Given the description of an element on the screen output the (x, y) to click on. 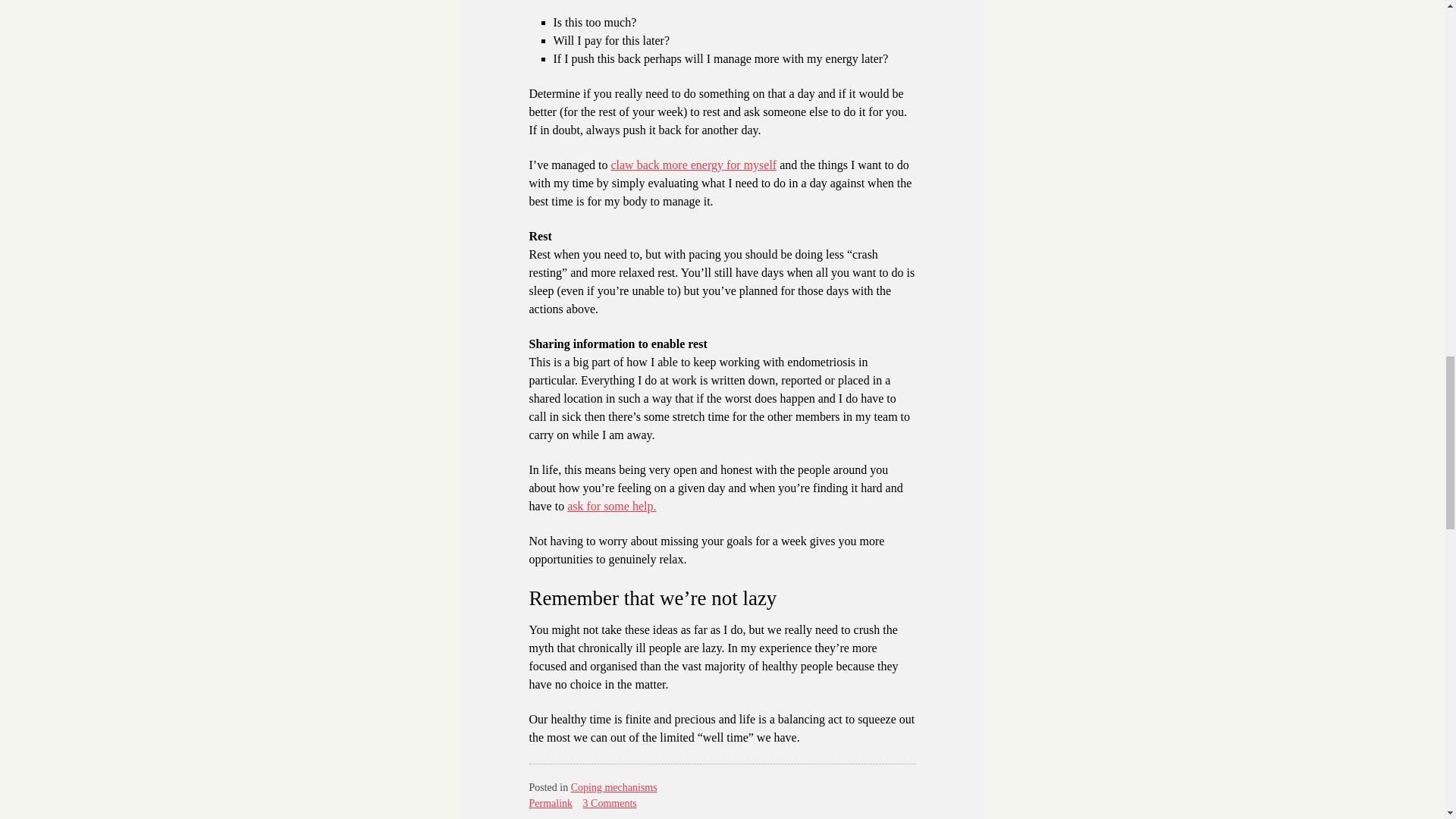
Coping mechanisms (614, 787)
Permalink (551, 803)
ask for some help. (611, 505)
3 Comments (610, 803)
claw back more energy for myself (693, 164)
